Given the description of an element on the screen output the (x, y) to click on. 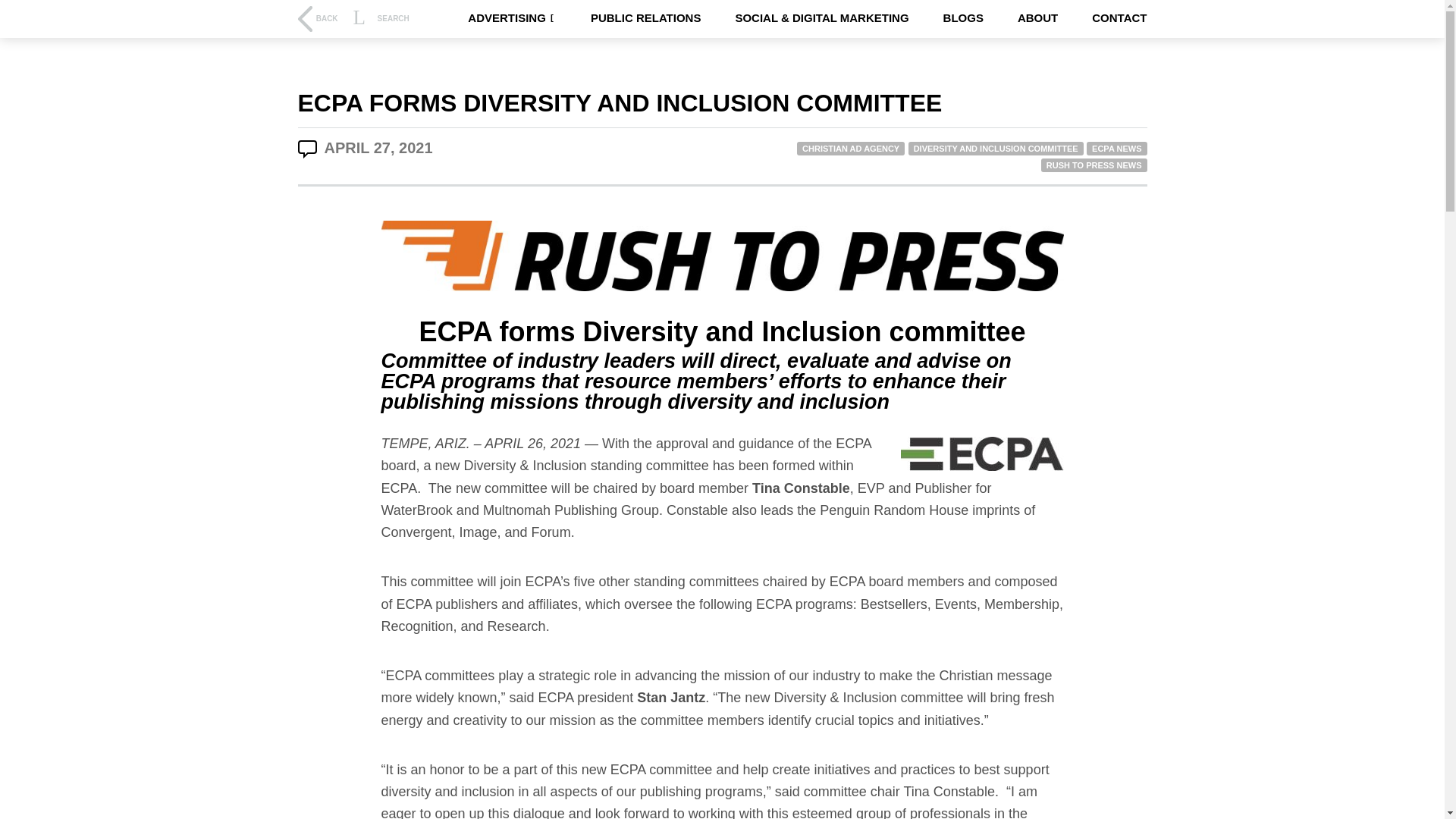
ABOUT (1037, 18)
PUBLIC RELATIONS (646, 18)
CONTACT (1119, 18)
RUSH TO PRESS NEWS (1094, 164)
DIVERSITY AND INCLUSION COMMITTEE (995, 148)
BACK (317, 18)
ECPA NEWS (1116, 148)
CHRISTIAN AD AGENCY (850, 148)
BLOGS (963, 18)
ADVERTISING (510, 18)
